Given the description of an element on the screen output the (x, y) to click on. 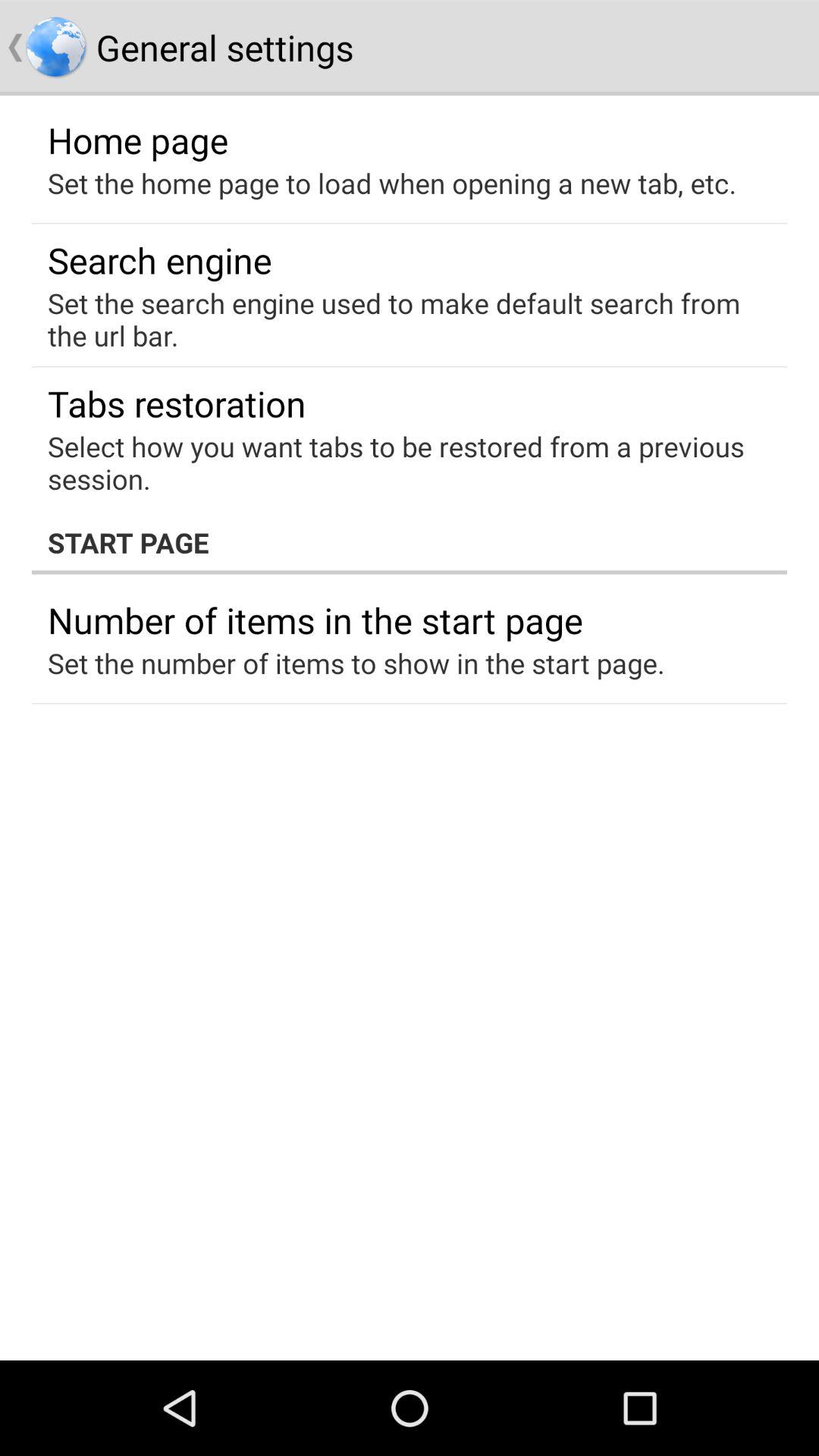
scroll to the tabs restoration (176, 403)
